Given the description of an element on the screen output the (x, y) to click on. 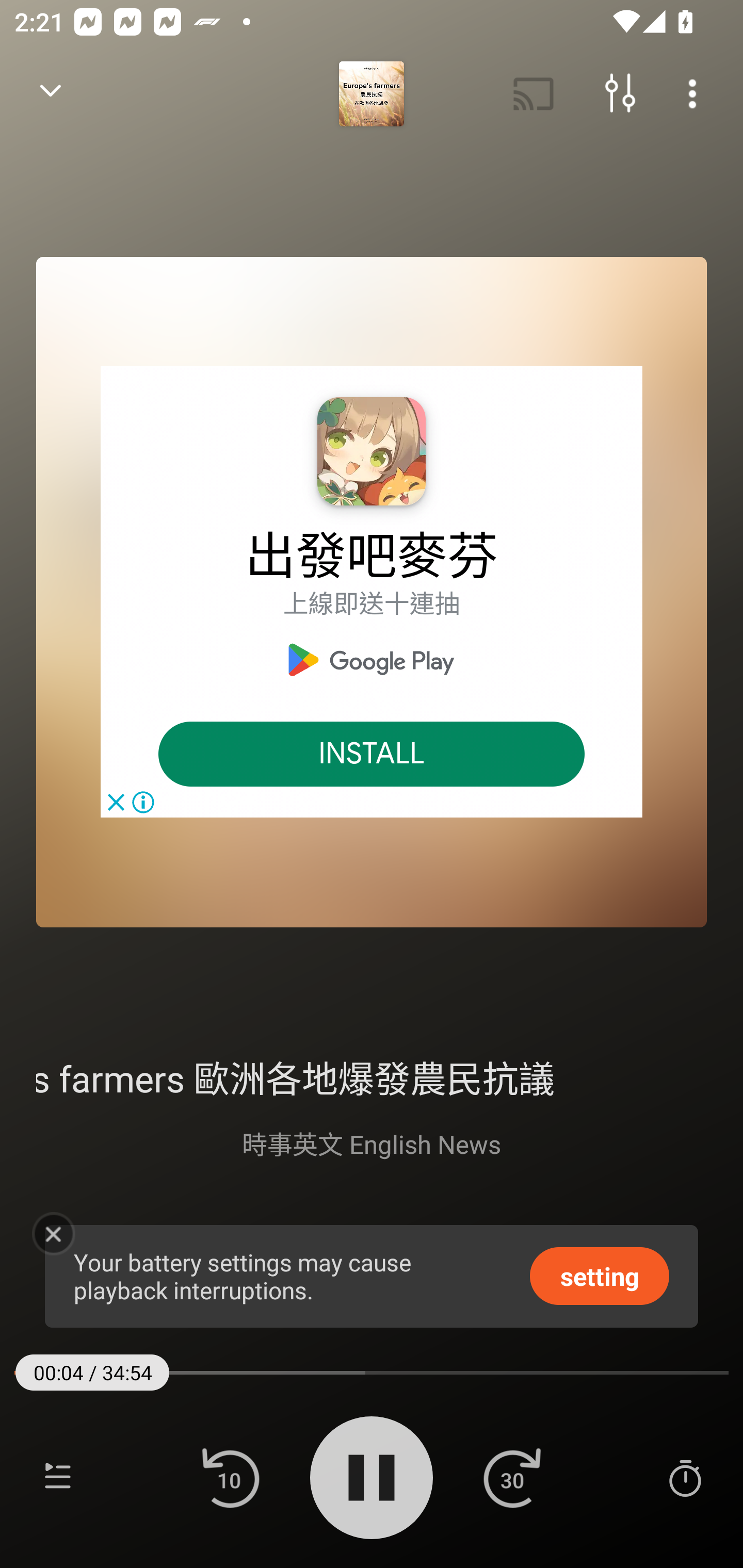
Cast. Disconnected (533, 93)
 Back (50, 94)
出發吧麥芬 上線即送十連抽 INSTALL INSTALL (371, 591)
出發吧麥芬 上線即送十連抽 INSTALL INSTALL (371, 591)
INSTALL (371, 753)
#181 🧑‍🌾 Europe's farmers 歐洲各地爆發農民抗議 (371, 1076)
時事英文 English News (371, 1142)
setting (599, 1275)
 Playlist (57, 1477)
Sleep Timer  (684, 1477)
